Given the description of an element on the screen output the (x, y) to click on. 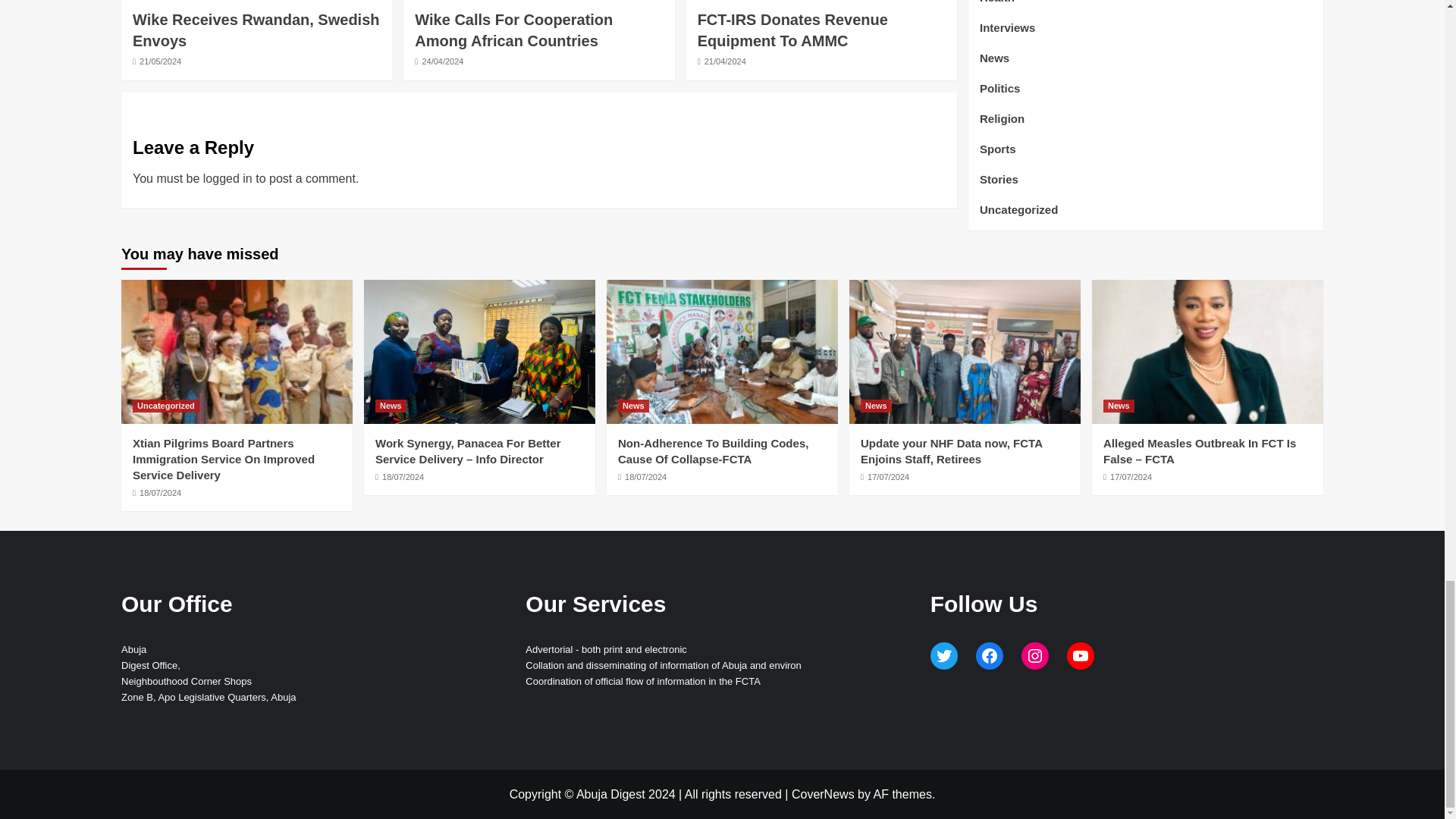
logged in (227, 178)
Wike Receives Rwandan, Swedish Envoys (256, 30)
FCT-IRS Donates Revenue Equipment To AMMC (792, 30)
Wike Calls For Cooperation Among African Countries (513, 30)
